Given the description of an element on the screen output the (x, y) to click on. 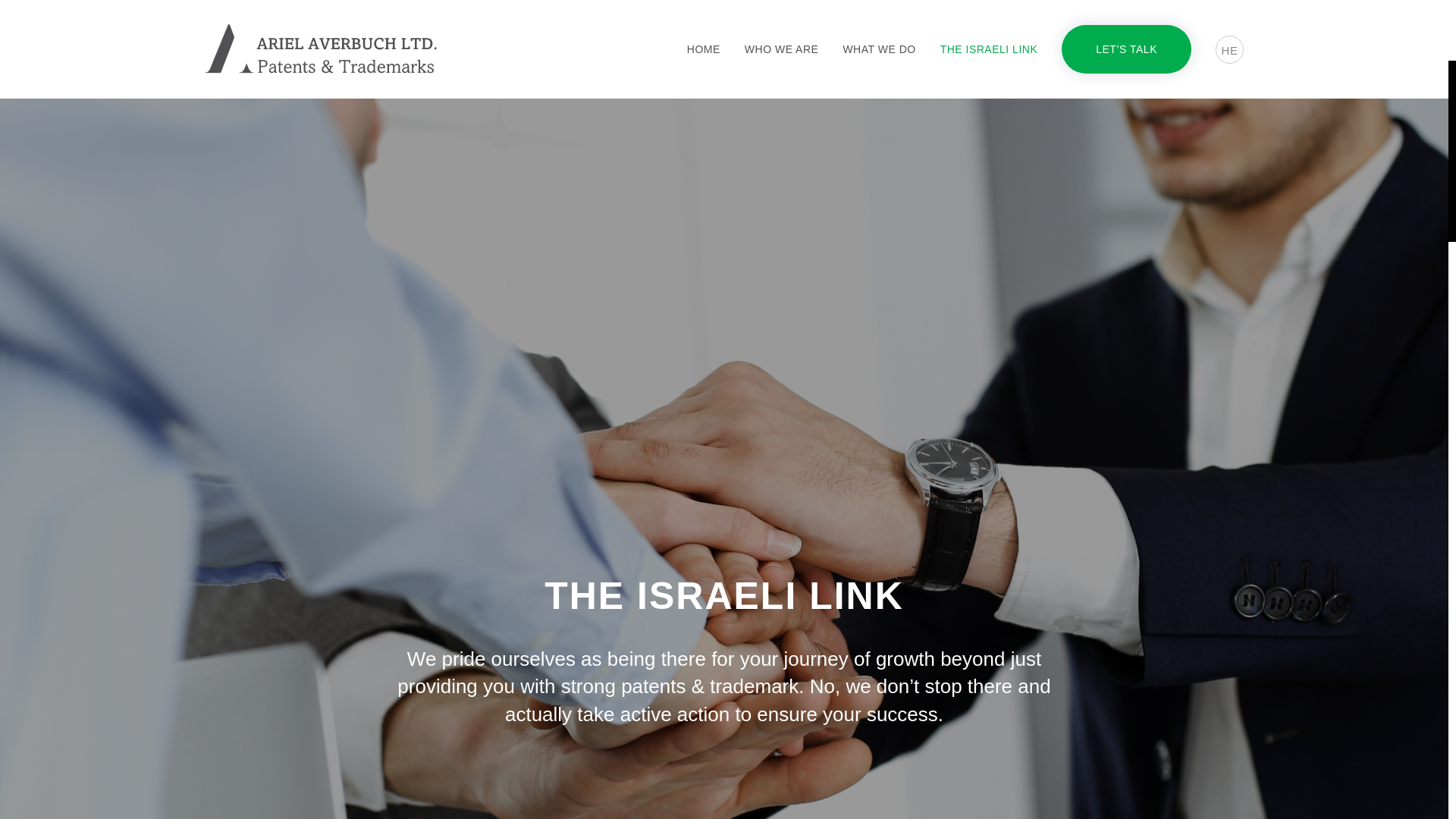
WHAT WE DO (879, 49)
WHO WE ARE (781, 49)
HE (1229, 49)
THE ISRAELI LINK (989, 49)
